Given the description of an element on the screen output the (x, y) to click on. 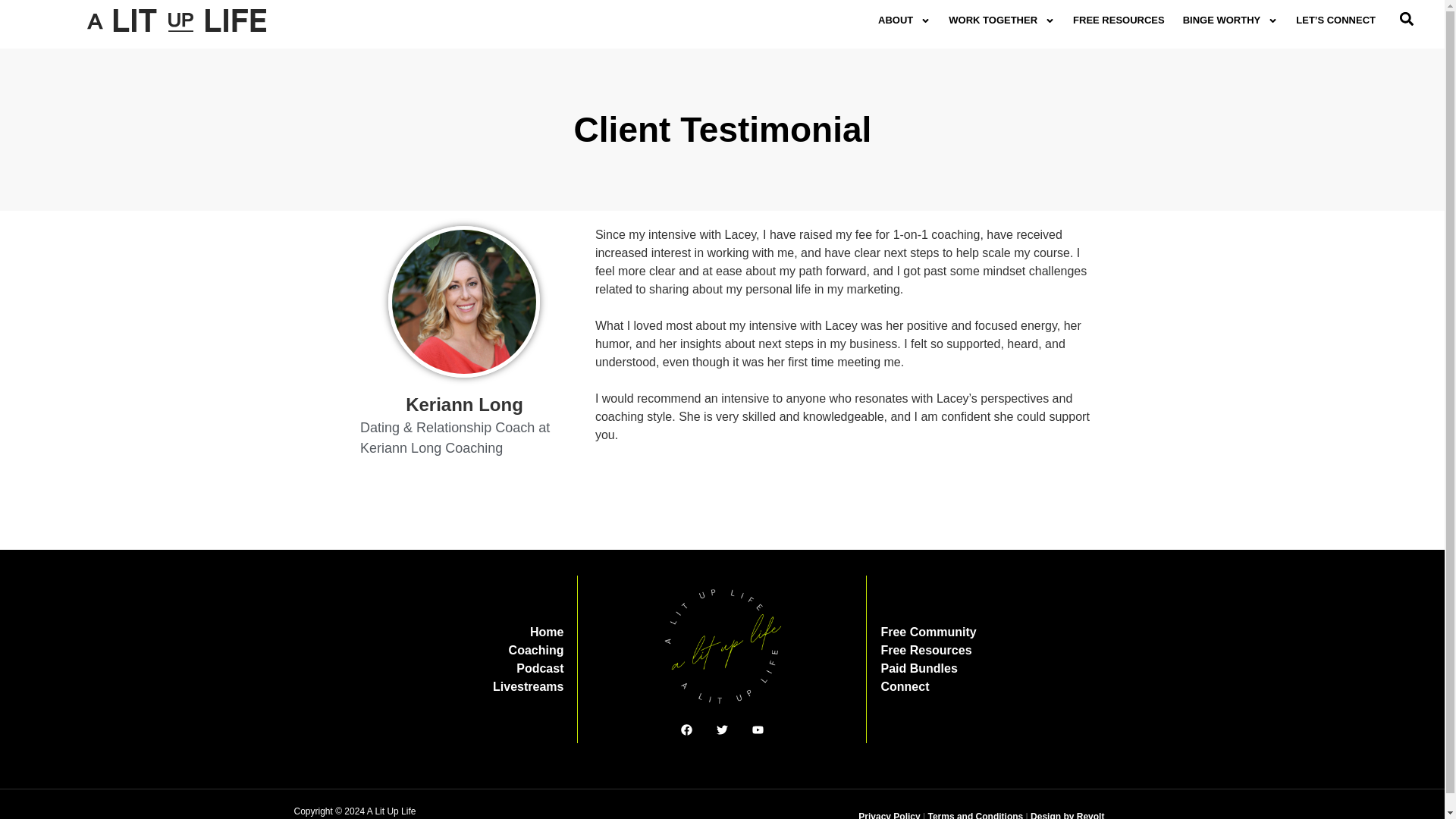
ABOUT (903, 20)
BINGE WORTHY (1230, 20)
FREE RESOURCES (1118, 20)
WORK TOGETHER (1001, 20)
